Given the description of an element on the screen output the (x, y) to click on. 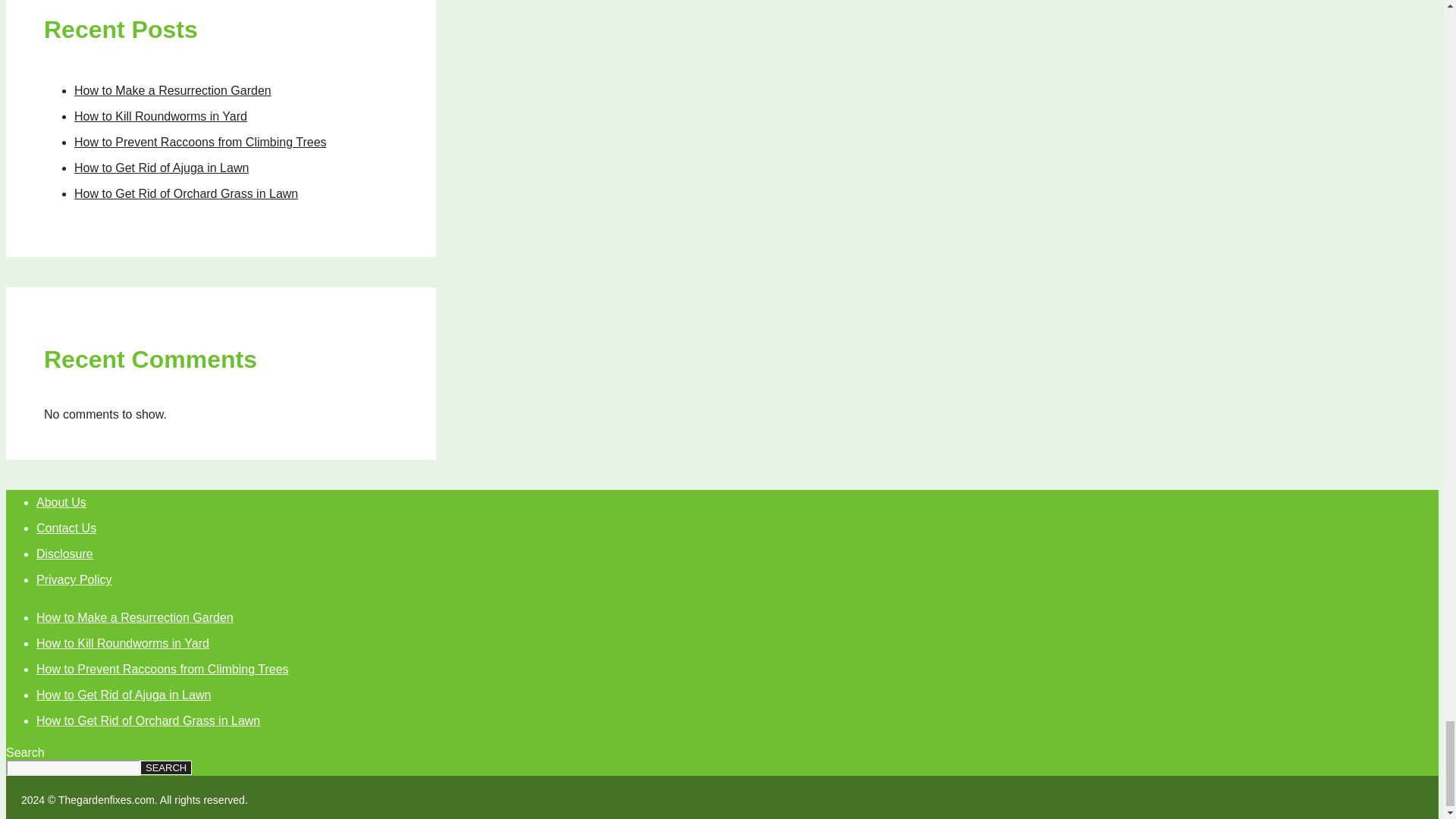
Contact Us (66, 527)
About Us (60, 502)
How to Get Rid of Ajuga in Lawn (123, 694)
How to Get Rid of Orchard Grass in Lawn (148, 720)
Privacy Policy (74, 579)
How to Get Rid of Orchard Grass in Lawn (186, 193)
How to Kill Roundworms in Yard (122, 643)
How to Kill Roundworms in Yard (160, 115)
Disclosure (64, 553)
How to Prevent Raccoons from Climbing Trees (200, 141)
How to Make a Resurrection Garden (172, 90)
How to Prevent Raccoons from Climbing Trees (162, 668)
How to Make a Resurrection Garden (134, 617)
SEARCH (165, 767)
How to Get Rid of Ajuga in Lawn (161, 167)
